Given the description of an element on the screen output the (x, y) to click on. 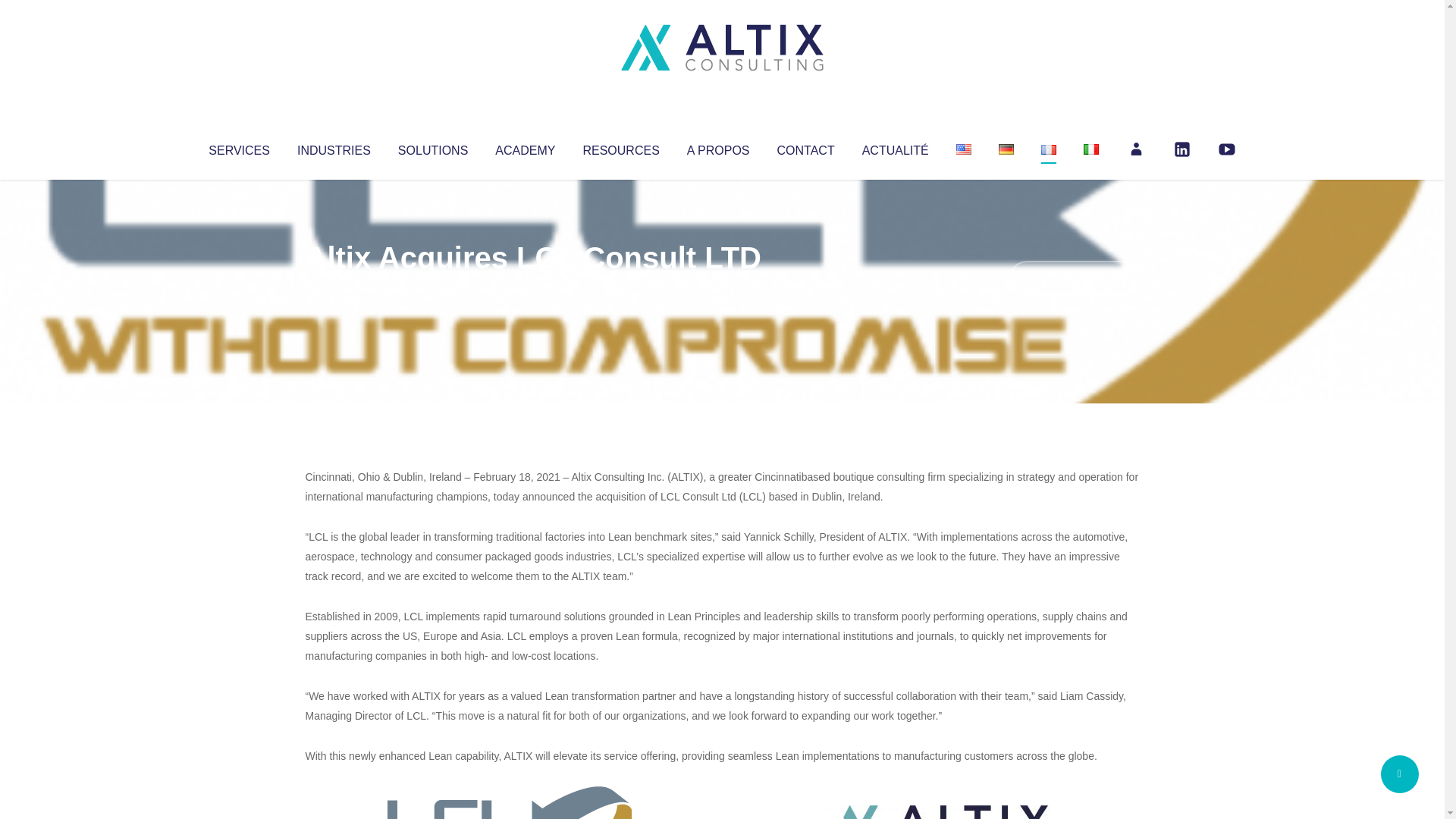
Altix (333, 287)
No Comments (1073, 278)
INDUSTRIES (334, 146)
SERVICES (238, 146)
ACADEMY (524, 146)
Articles par Altix (333, 287)
Uncategorized (530, 287)
RESOURCES (620, 146)
SOLUTIONS (432, 146)
A PROPOS (718, 146)
